Given the description of an element on the screen output the (x, y) to click on. 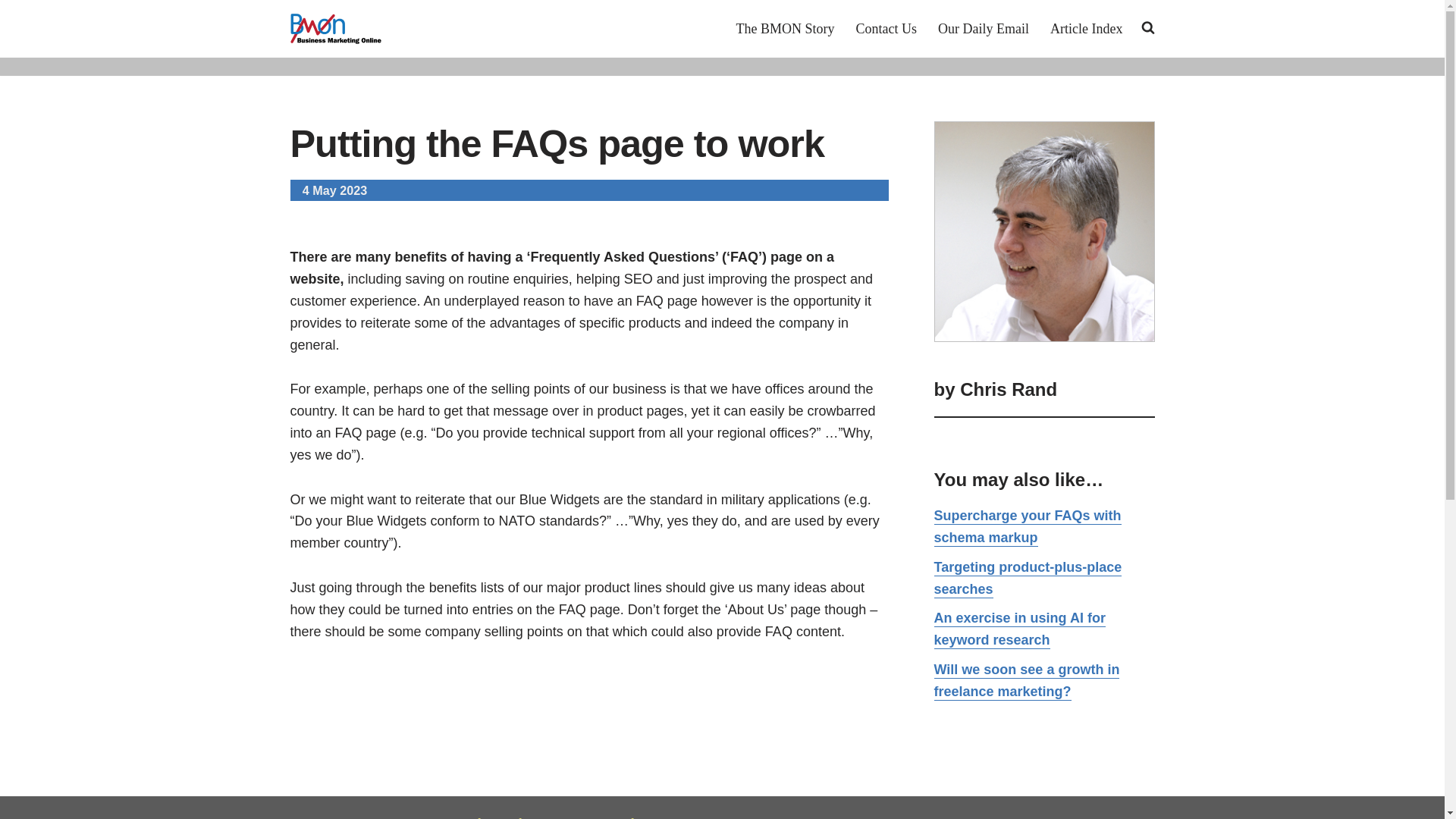
Article Index (1085, 28)
An exercise in using AI for keyword research (1019, 629)
Our Daily Email (983, 28)
Skip to content (11, 31)
Contact Us (886, 28)
The BMON Story (785, 28)
Will we soon see a growth in freelance marketing? (1026, 681)
Supercharge your FAQs with schema markup (1027, 527)
Targeting product-plus-place searches (1028, 578)
